Given the description of an element on the screen output the (x, y) to click on. 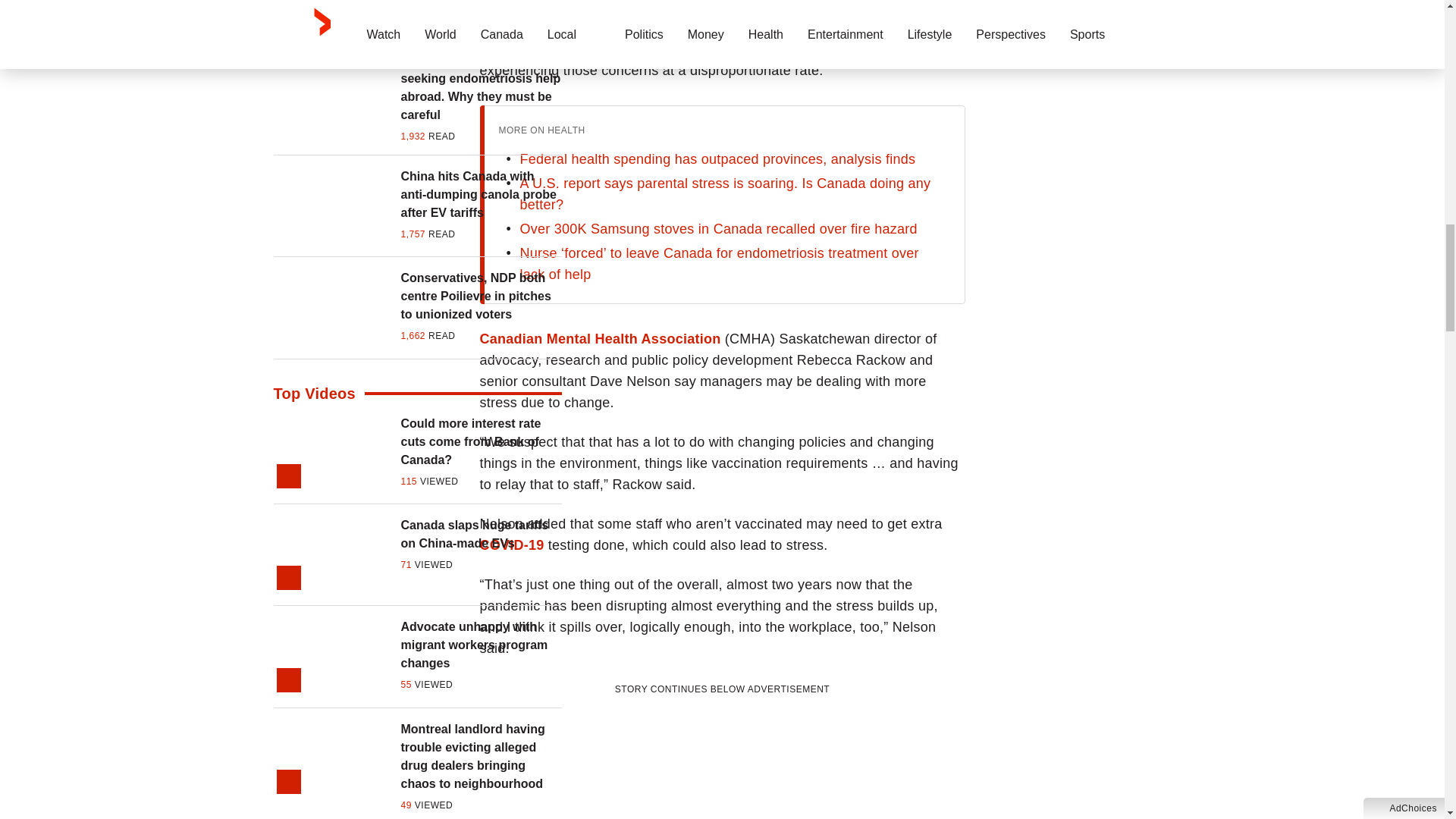
Could more interest rate cuts come from Bank of Canada? (480, 441)
Canada slaps huge tariffs on China-made EVs (480, 534)
Advocate unhappy with migrant workers program changes (480, 645)
